Given the description of an element on the screen output the (x, y) to click on. 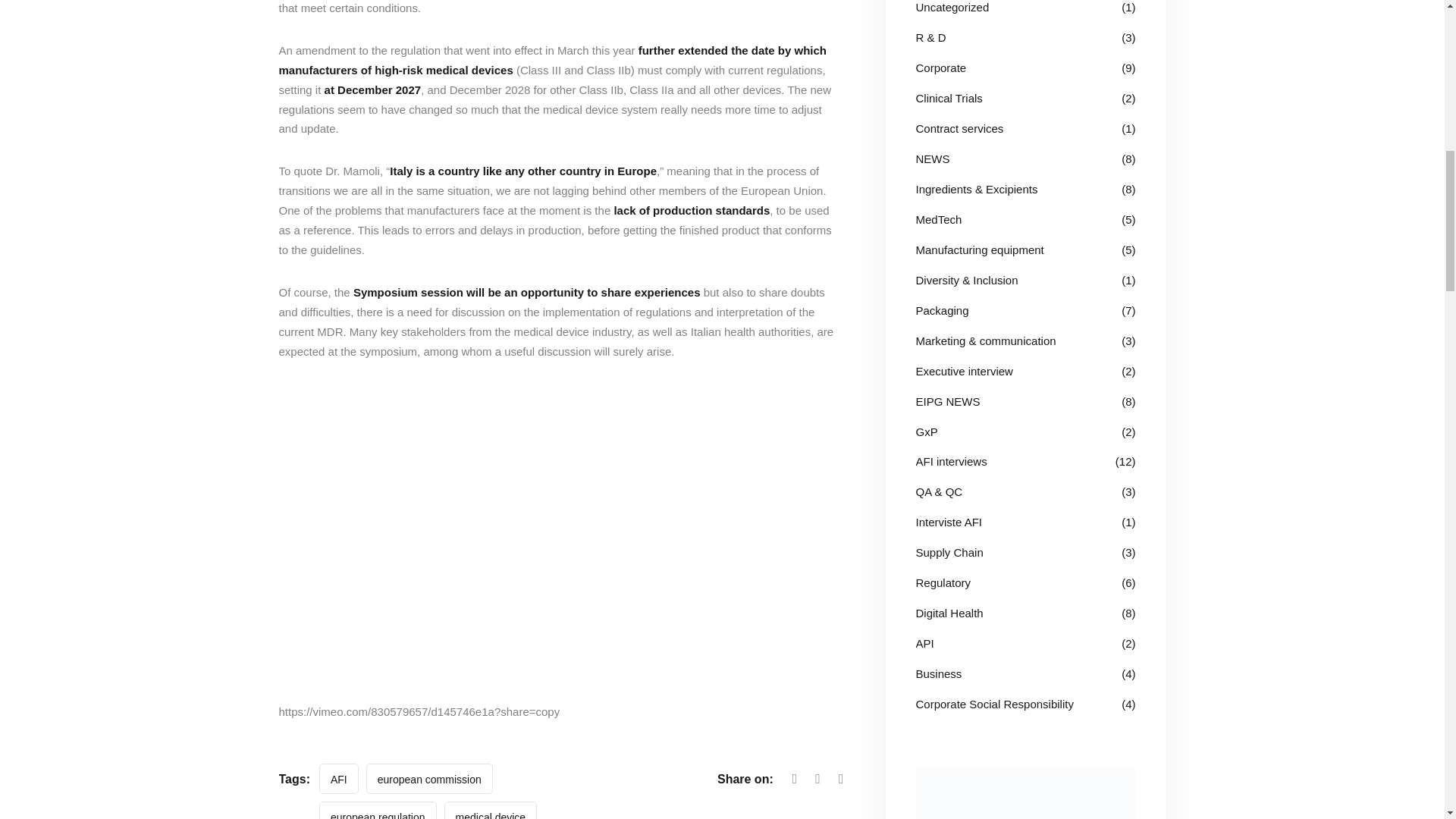
Uncategorized (952, 8)
medical device (490, 810)
european commission (429, 778)
european regulation (377, 810)
AFI (338, 778)
